Given the description of an element on the screen output the (x, y) to click on. 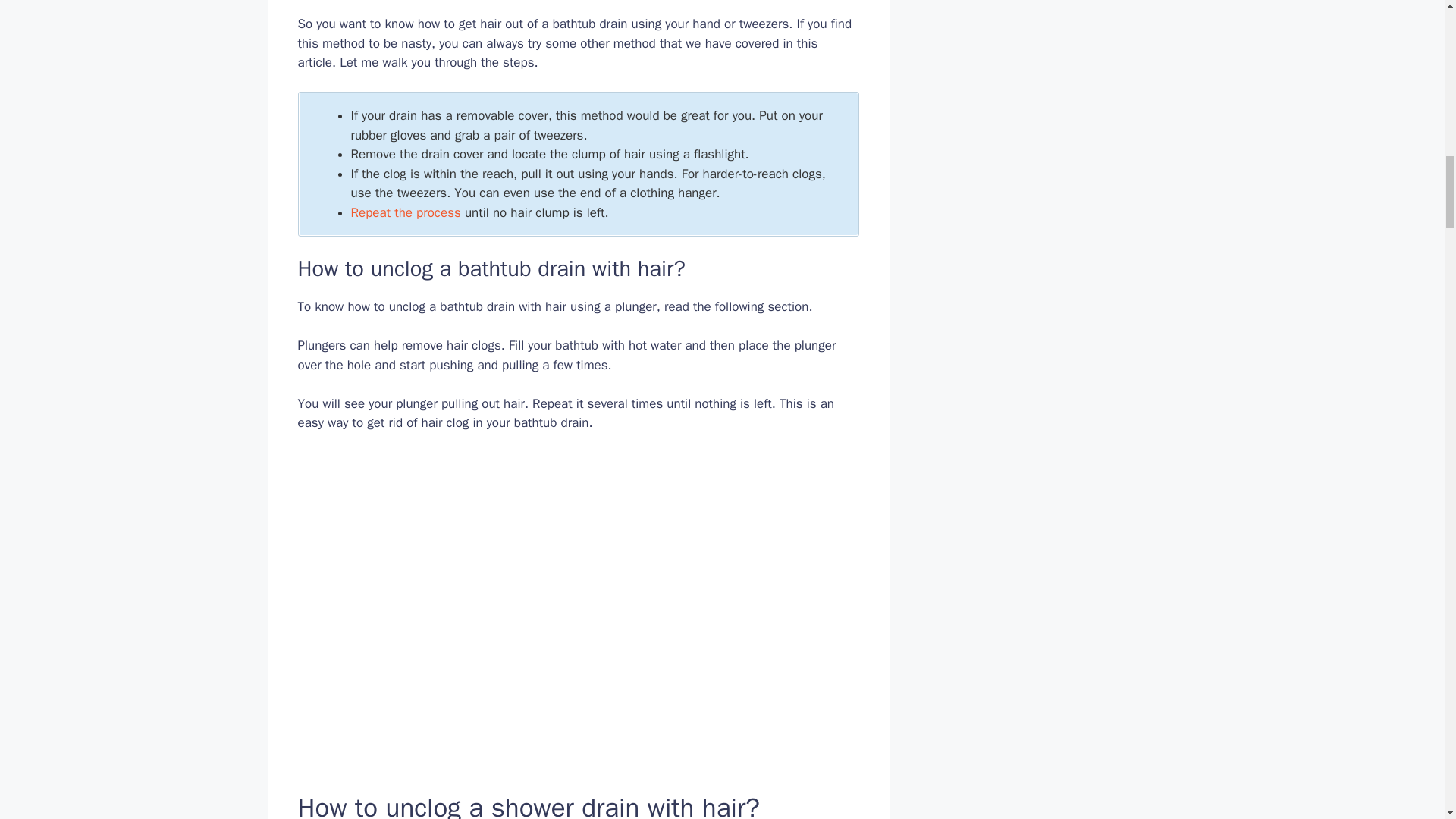
Repeat the process (405, 212)
